Given the description of an element on the screen output the (x, y) to click on. 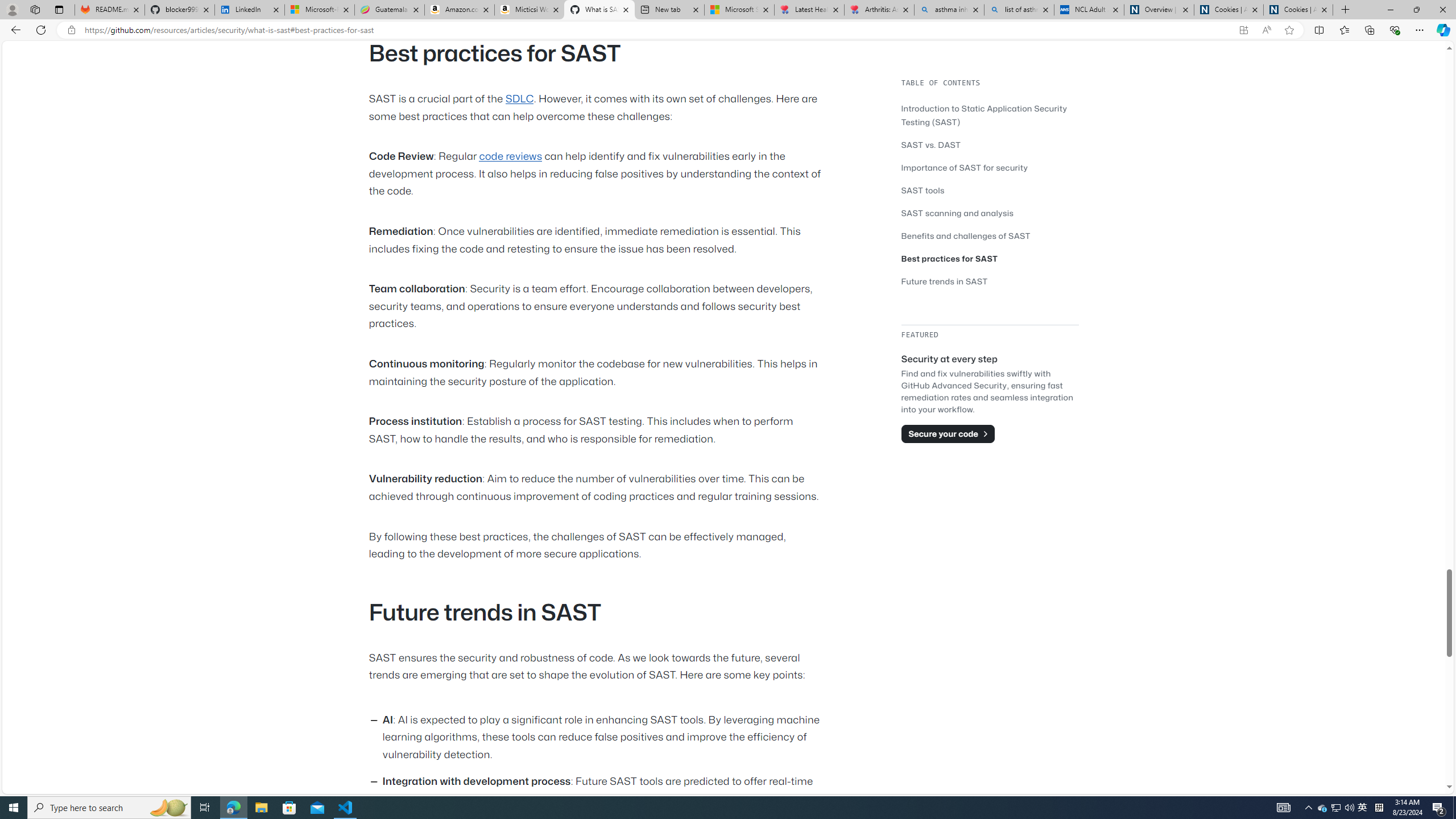
SAST scanning and analysis (957, 212)
Introduction to Static Application Security Testing (SAST) (989, 115)
SAST vs. DAST (930, 144)
SAST tools (989, 190)
Future trends in SAST (944, 280)
Importance of SAST for security (964, 166)
